Given the description of an element on the screen output the (x, y) to click on. 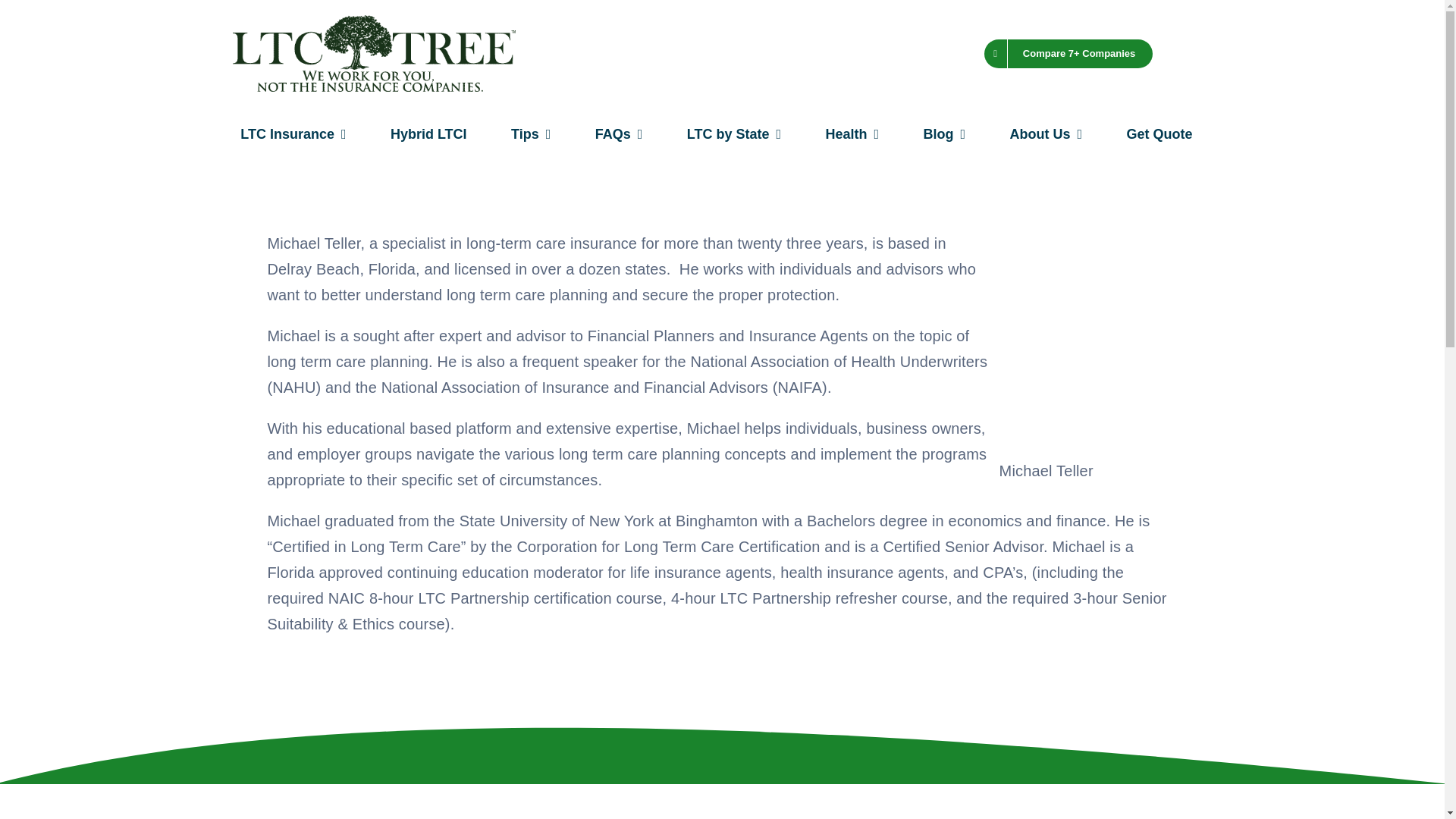
FAQs (619, 135)
Hybrid LTCI (428, 135)
Tips (530, 135)
LTC Insurance (292, 135)
